Given the description of an element on the screen output the (x, y) to click on. 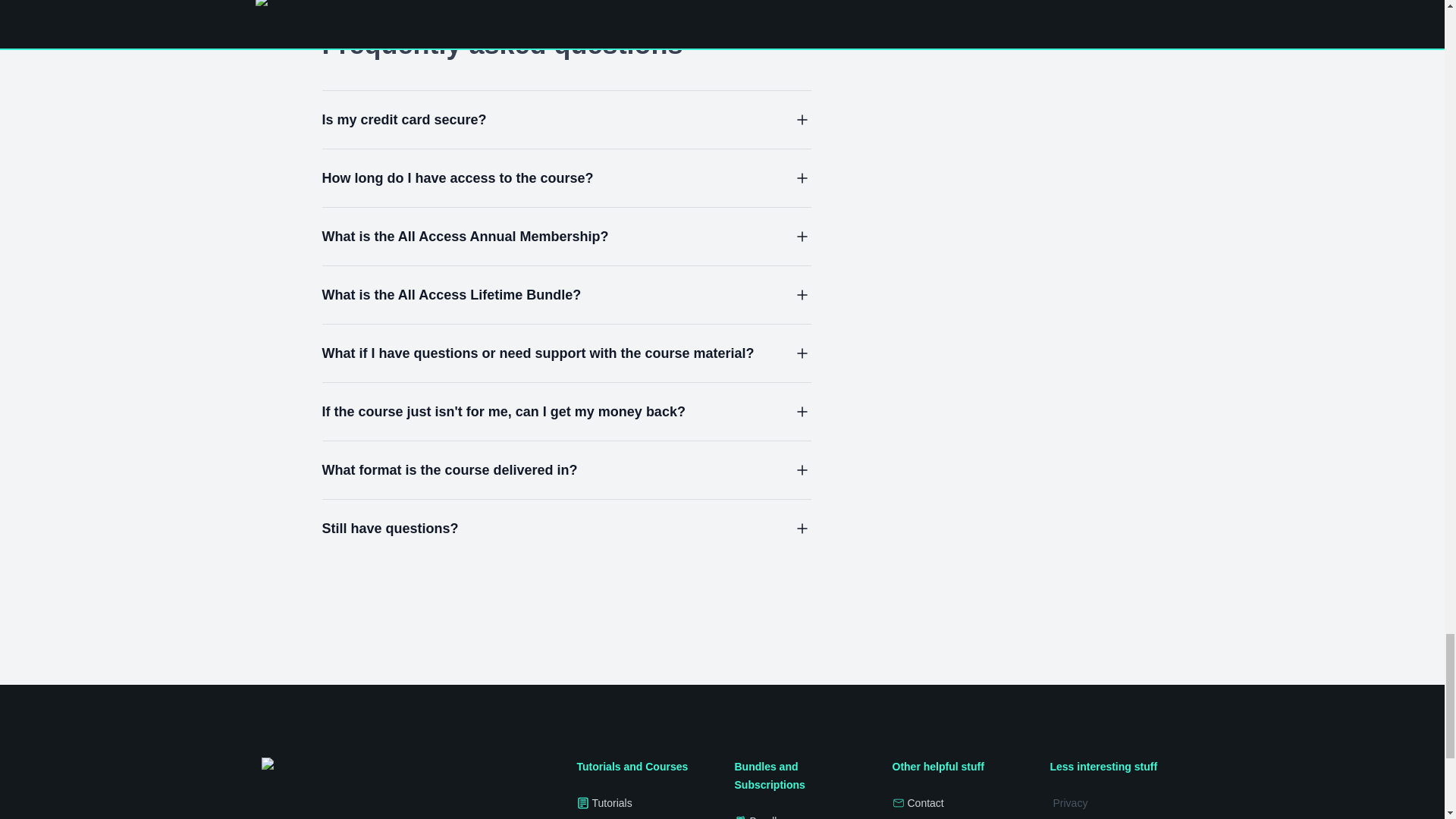
Is my credit card secure? (565, 119)
What is the All Access Lifetime Bundle? (565, 294)
How long do I have access to the course? (565, 178)
What format is the course delivered in? (565, 469)
If the course just isn't for me, can I get my money back? (565, 411)
Still have questions? (565, 527)
What is the All Access Annual Membership? (565, 236)
